Given the description of an element on the screen output the (x, y) to click on. 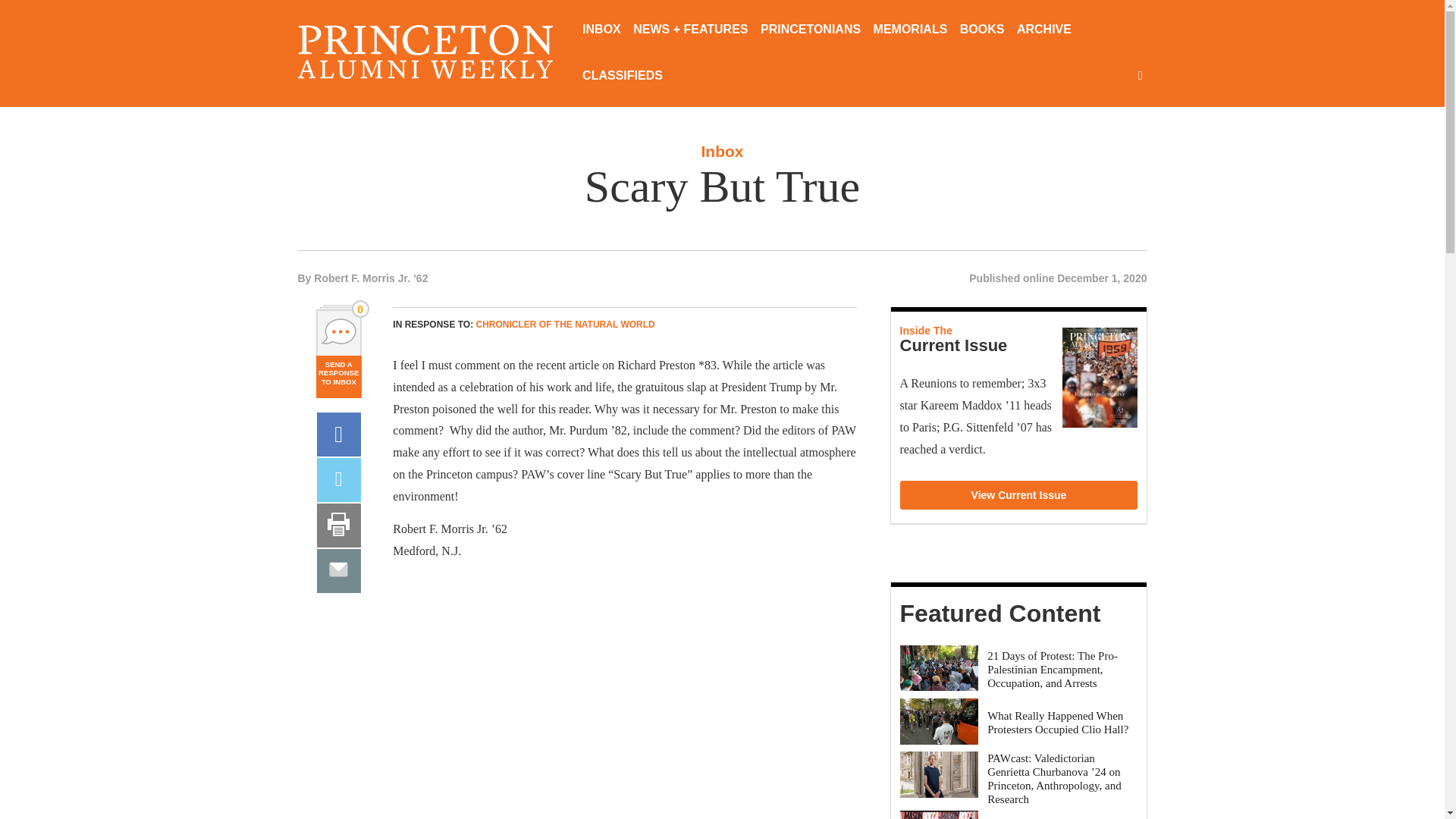
BOOKS (982, 30)
CHRONICLER OF THE NATURAL WORLD (565, 324)
View Current Issue (1018, 494)
SEND A RESPONSE TO INBOX (338, 369)
INBOX (602, 30)
PRINCETONIANS (809, 30)
CLASSIFIEDS (622, 76)
ARCHIVE (1043, 30)
MEMORIALS (910, 30)
